Given the description of an element on the screen output the (x, y) to click on. 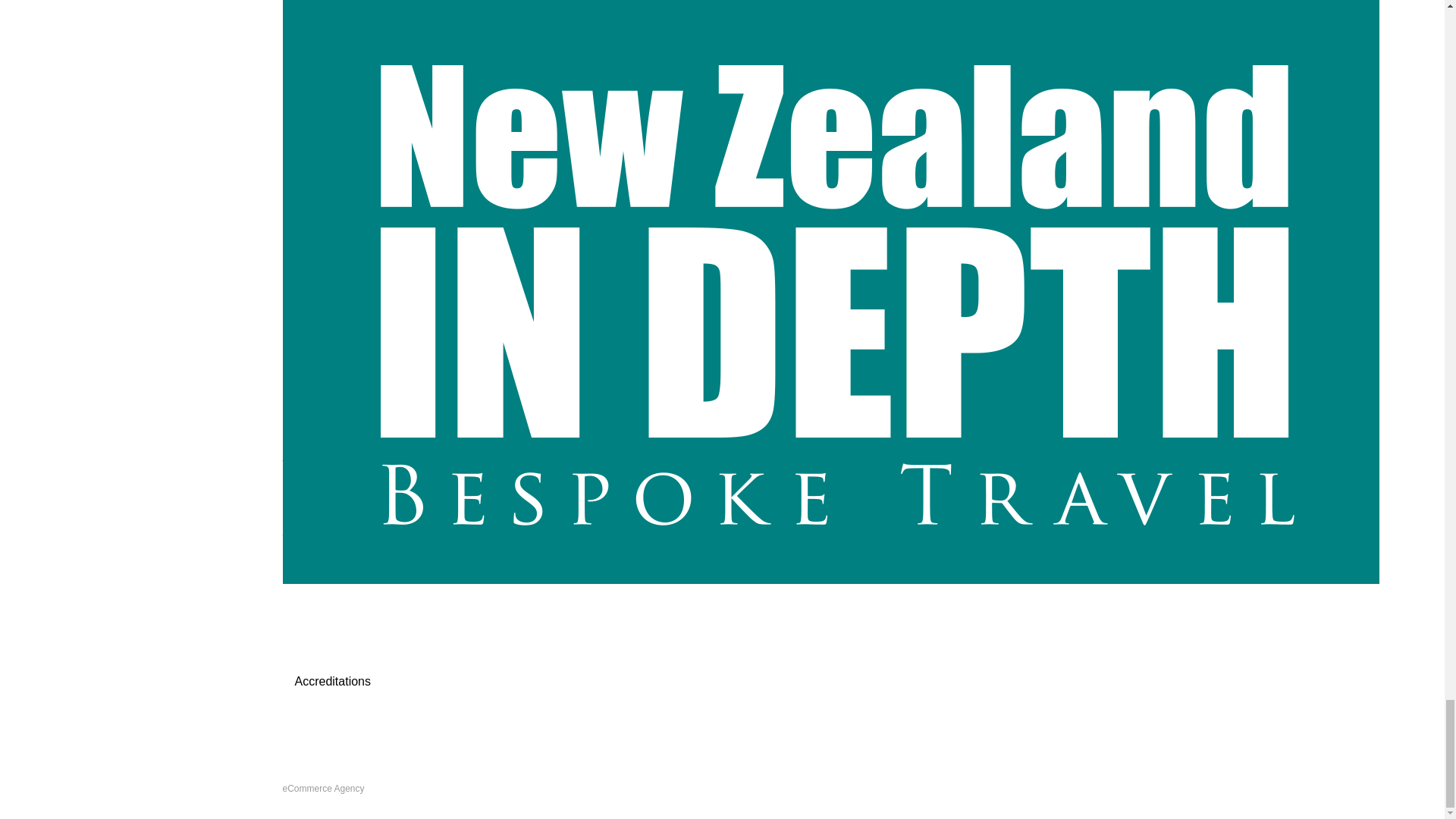
Subscribe (722, 209)
Mailchimp - email marketing made easy and fun (438, 279)
